Given the description of an element on the screen output the (x, y) to click on. 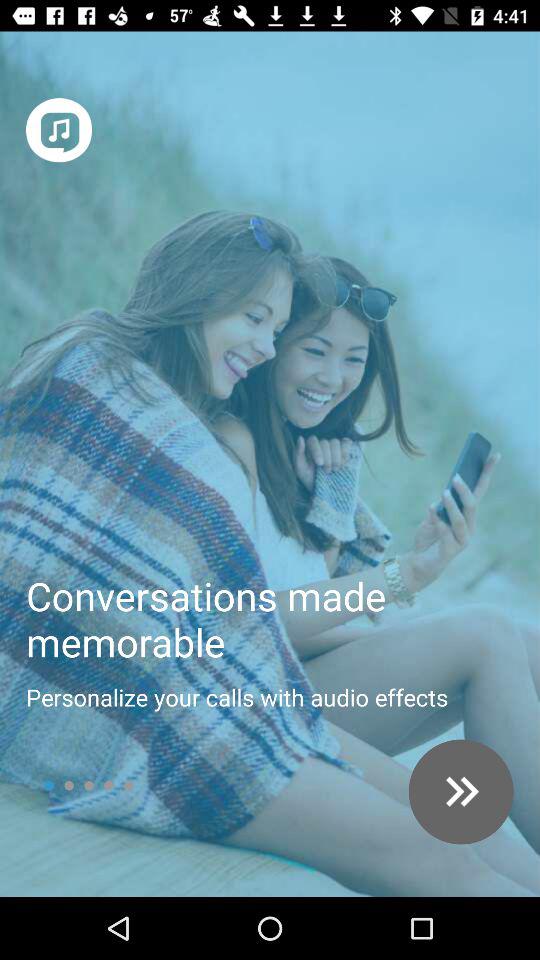
open app below personalize your calls (460, 791)
